Given the description of an element on the screen output the (x, y) to click on. 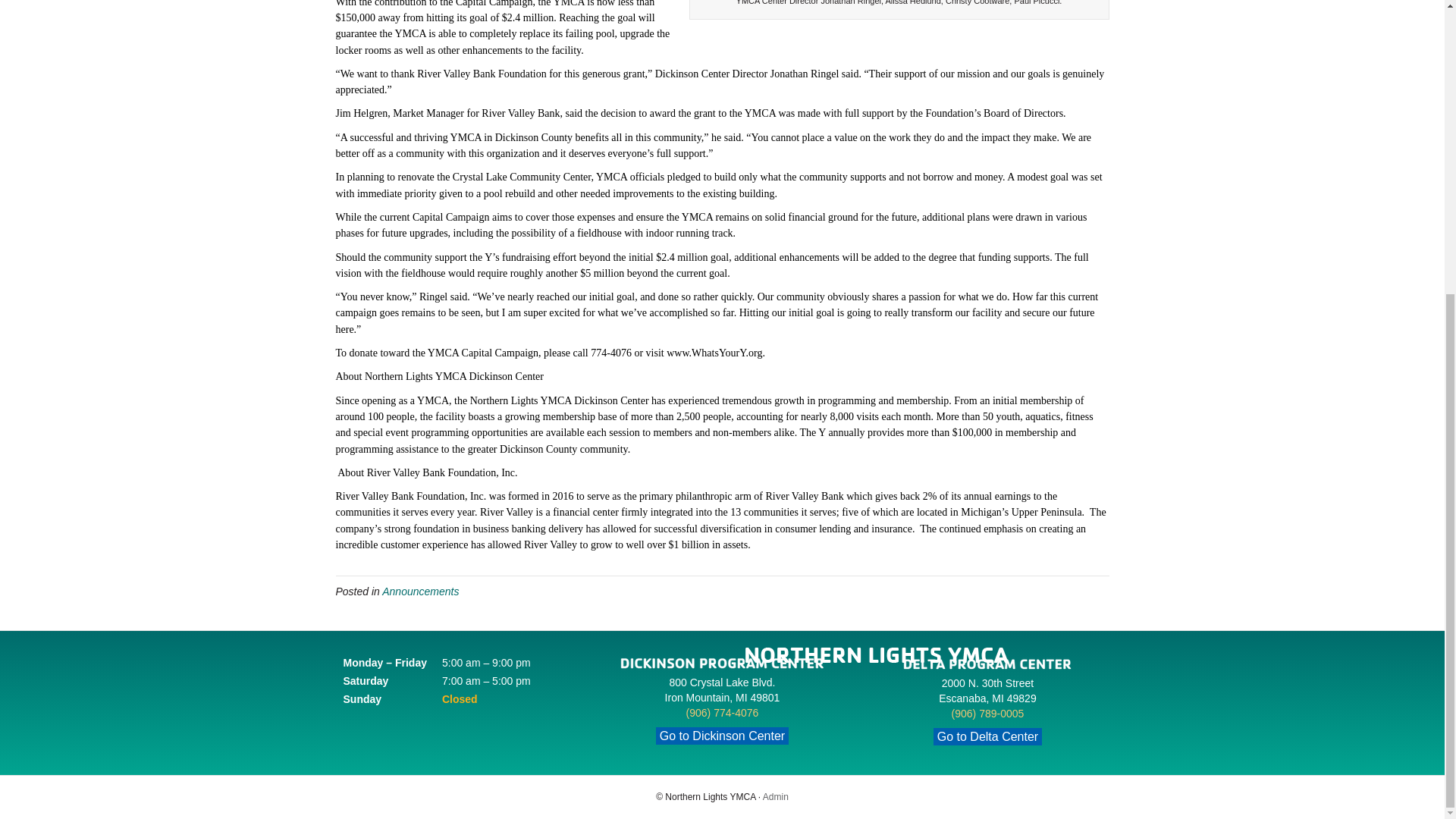
Announcements (419, 591)
Admin (775, 796)
Go to Delta Center (987, 736)
Go to Dickinson Center (722, 734)
